Given the description of an element on the screen output the (x, y) to click on. 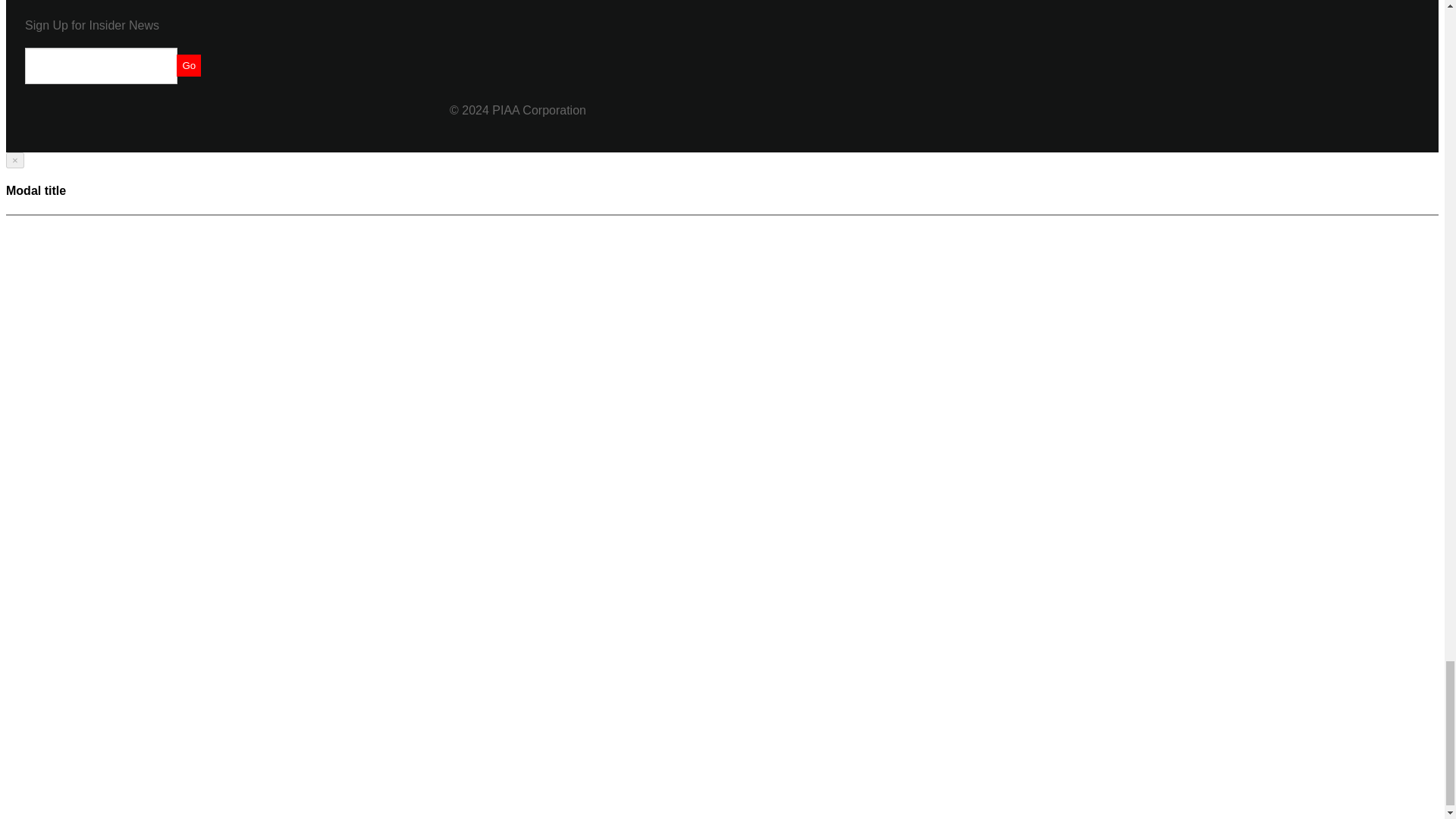
Go (188, 65)
